Given the description of an element on the screen output the (x, y) to click on. 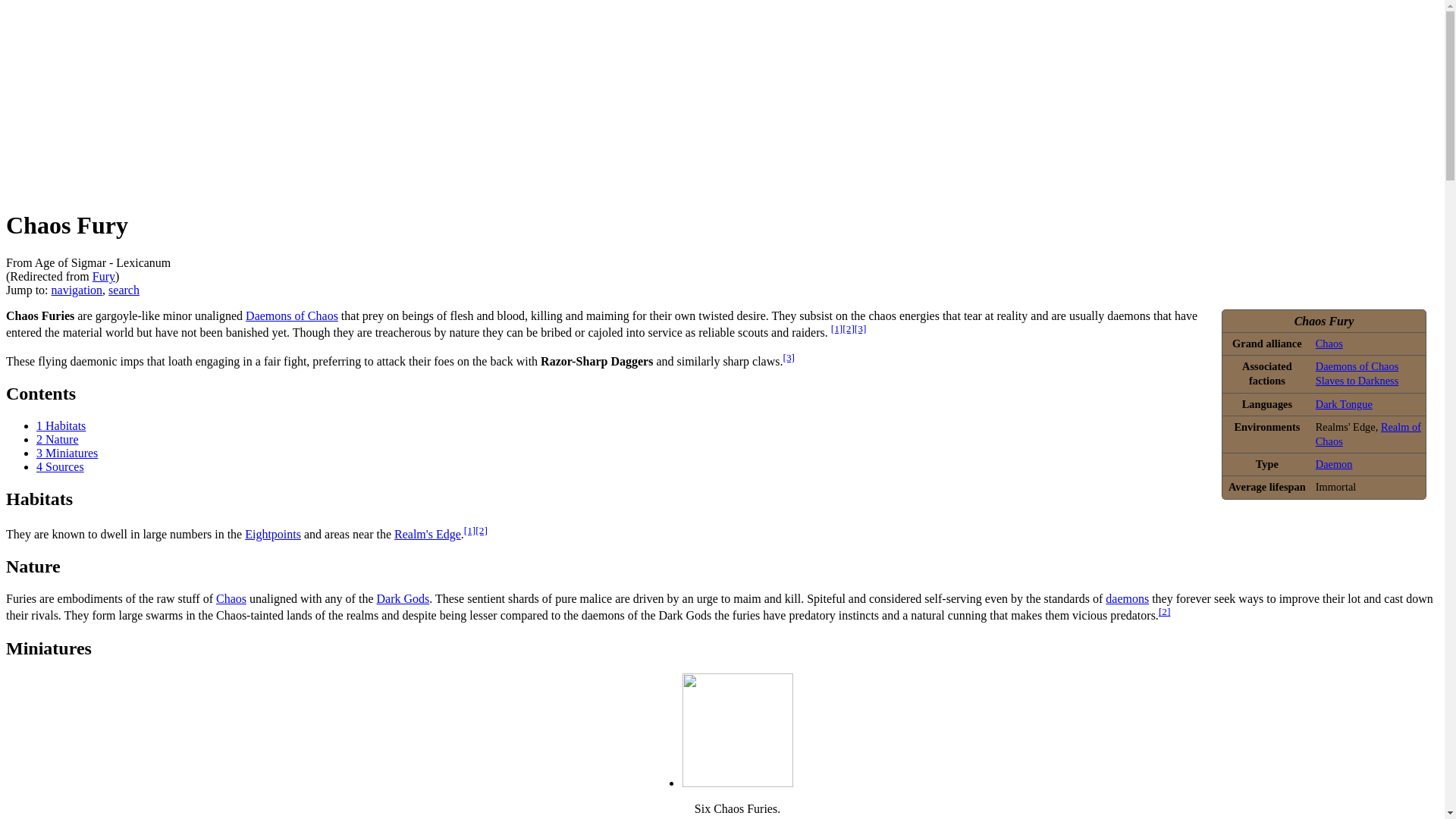
Daemons of Chaos (291, 315)
Daemon (1334, 463)
Realm's Edge (427, 533)
Dark Tongue (1344, 404)
daemons (1126, 598)
4 Sources (60, 466)
Dark Gods (402, 598)
Slaves to Darkness (1357, 380)
Dark Gods (402, 598)
Daemon (1334, 463)
